Given the description of an element on the screen output the (x, y) to click on. 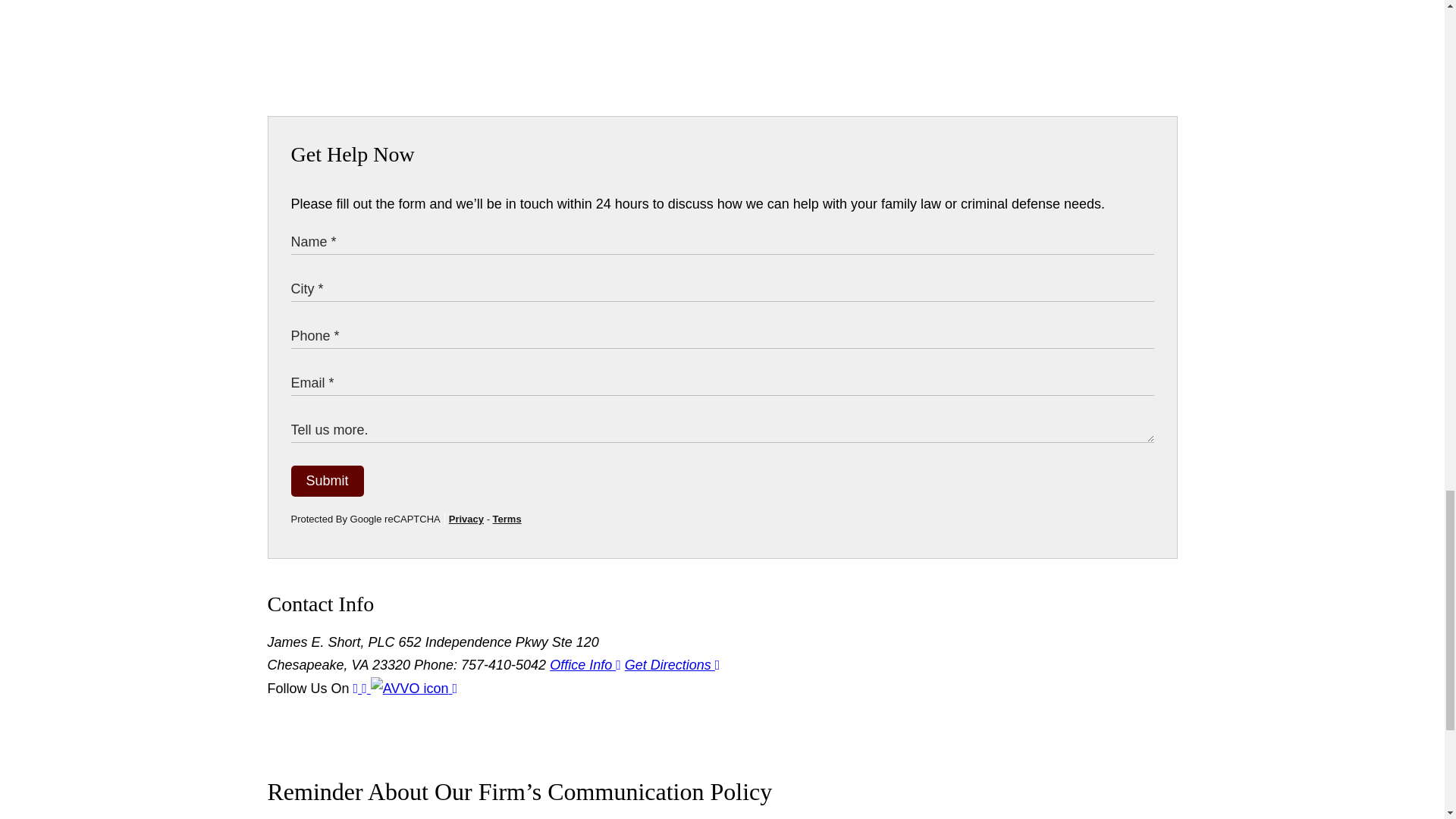
Terms (507, 518)
Office Info (585, 664)
Privacy (465, 518)
Get Directions (672, 664)
Submit (327, 481)
